Given the description of an element on the screen output the (x, y) to click on. 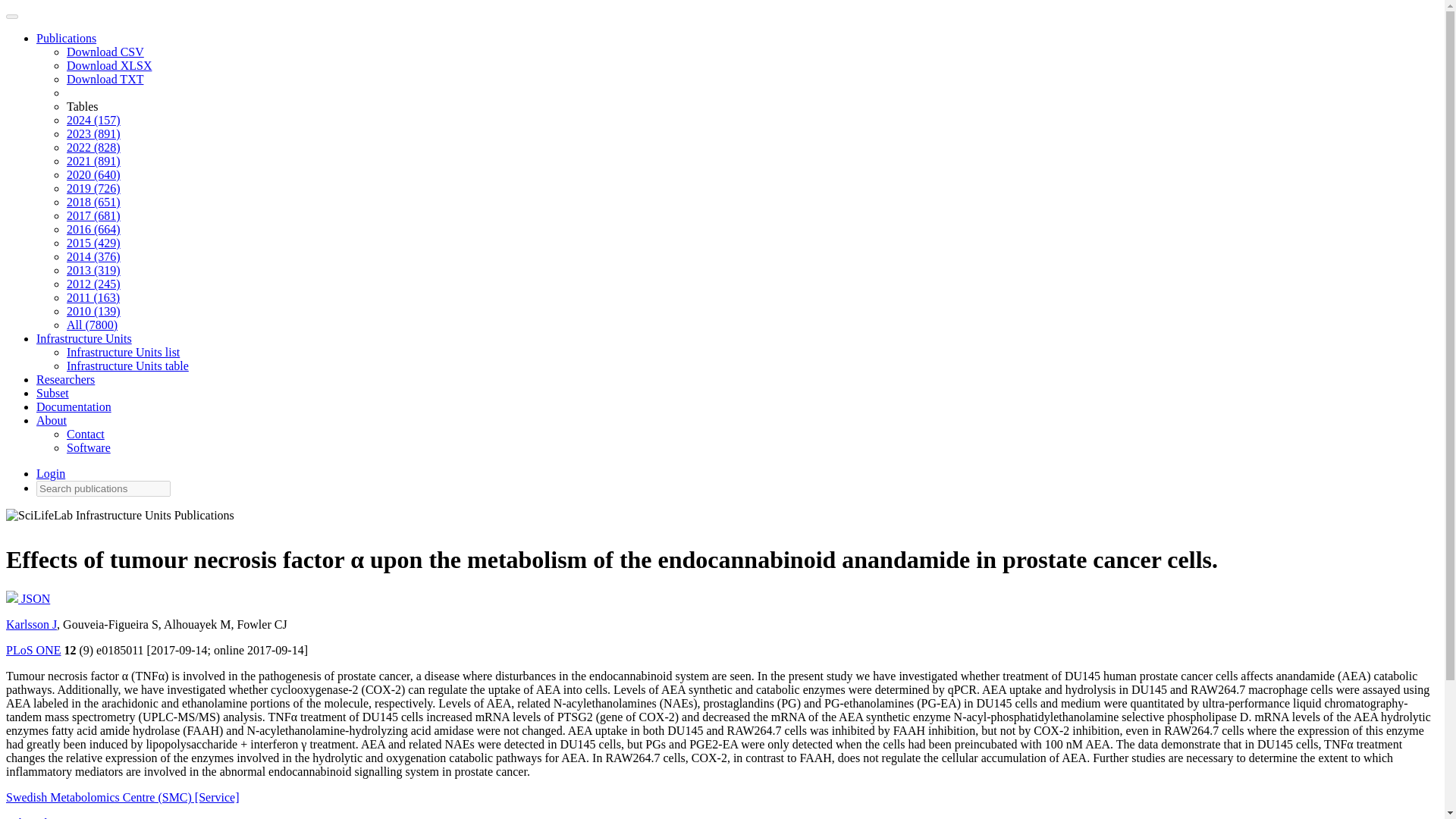
PubMed (25, 817)
Karlsson J (30, 624)
PLoS ONE (33, 649)
Contact (85, 433)
JSON (27, 598)
Documentation (74, 406)
SciLifeLab Infrastructure Units Publications (119, 518)
Publications (66, 38)
Software (88, 447)
Login (50, 472)
Download CSV (105, 51)
Infrastructure Units table (127, 365)
Infrastructure Units (84, 338)
Download TXT (104, 78)
Subset (52, 392)
